Given the description of an element on the screen output the (x, y) to click on. 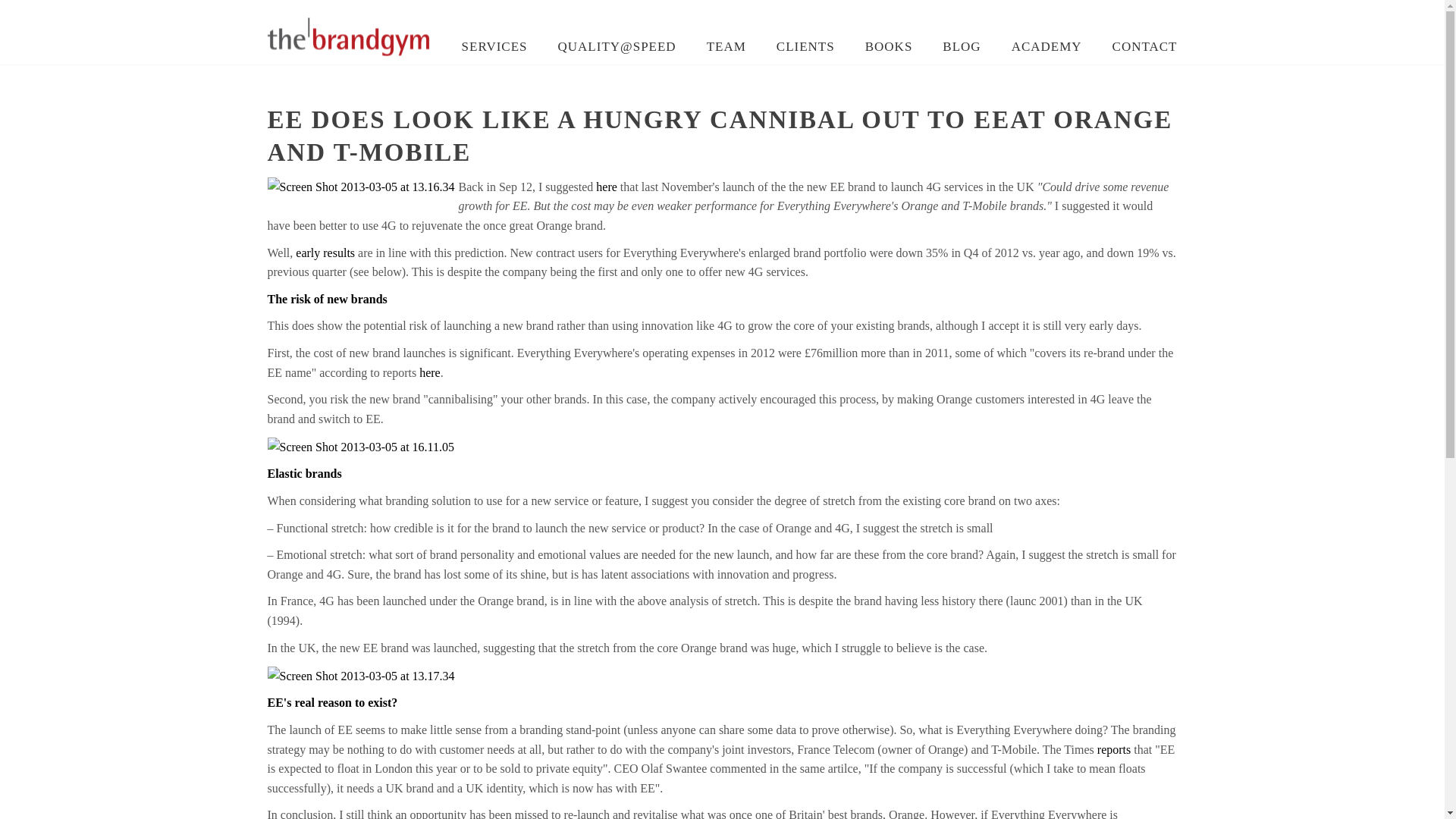
ACADEMY (1046, 46)
BLOG (961, 46)
BOOKS (889, 46)
TEAM (726, 46)
Screen Shot 2013-03-05 at 13.16.34 (360, 187)
CONTACT (1144, 46)
BOOKS (889, 46)
CONTACT (1144, 46)
CLIENTS (805, 46)
SERVICES (494, 46)
